Given the description of an element on the screen output the (x, y) to click on. 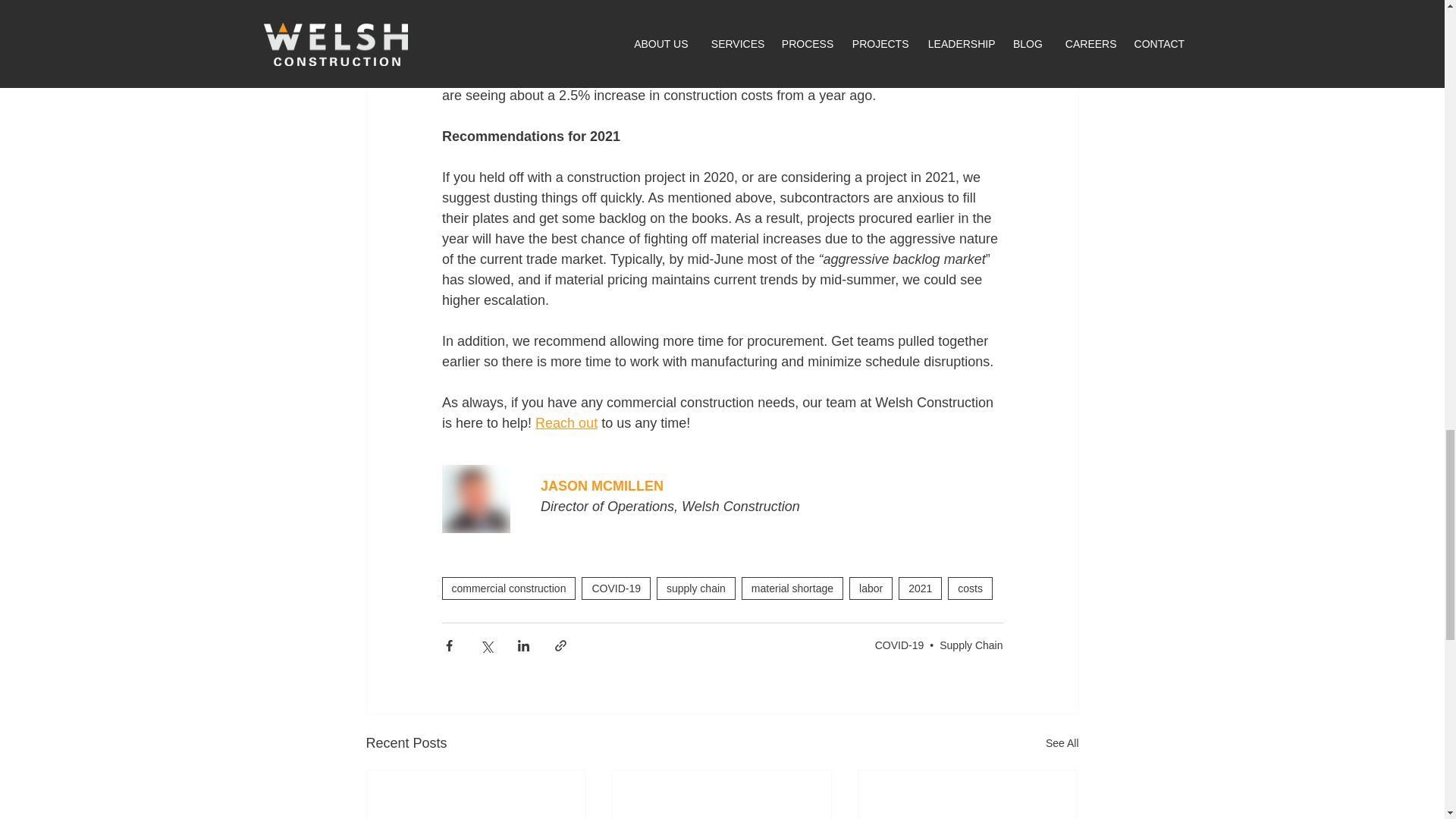
2021 (920, 588)
costs (969, 588)
supply chain (695, 588)
commercial construction (508, 588)
Reach out (565, 422)
material shortage (792, 588)
COVID-19 (615, 588)
labor (870, 588)
